Given the description of an element on the screen output the (x, y) to click on. 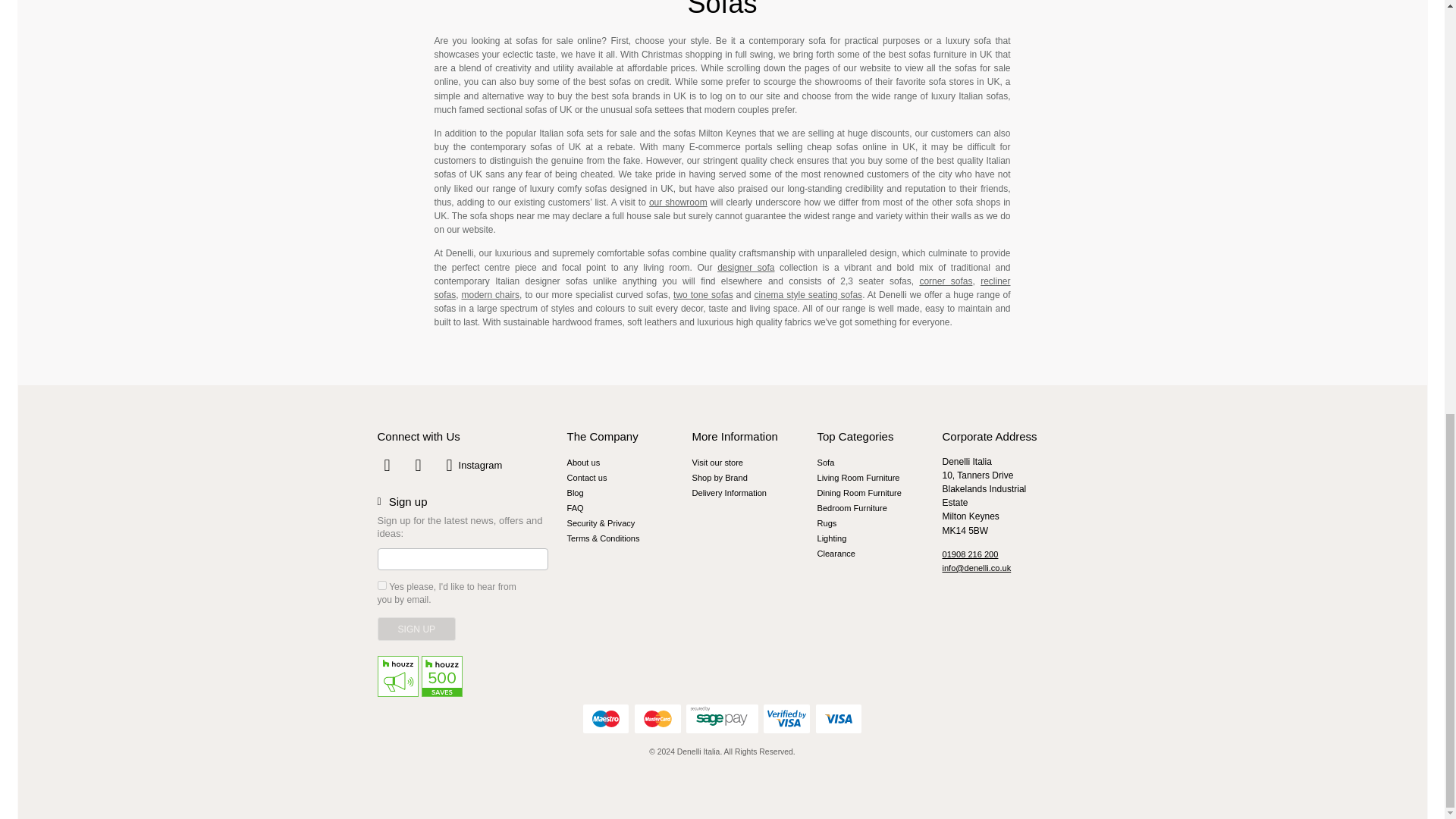
on (382, 584)
